Given the description of an element on the screen output the (x, y) to click on. 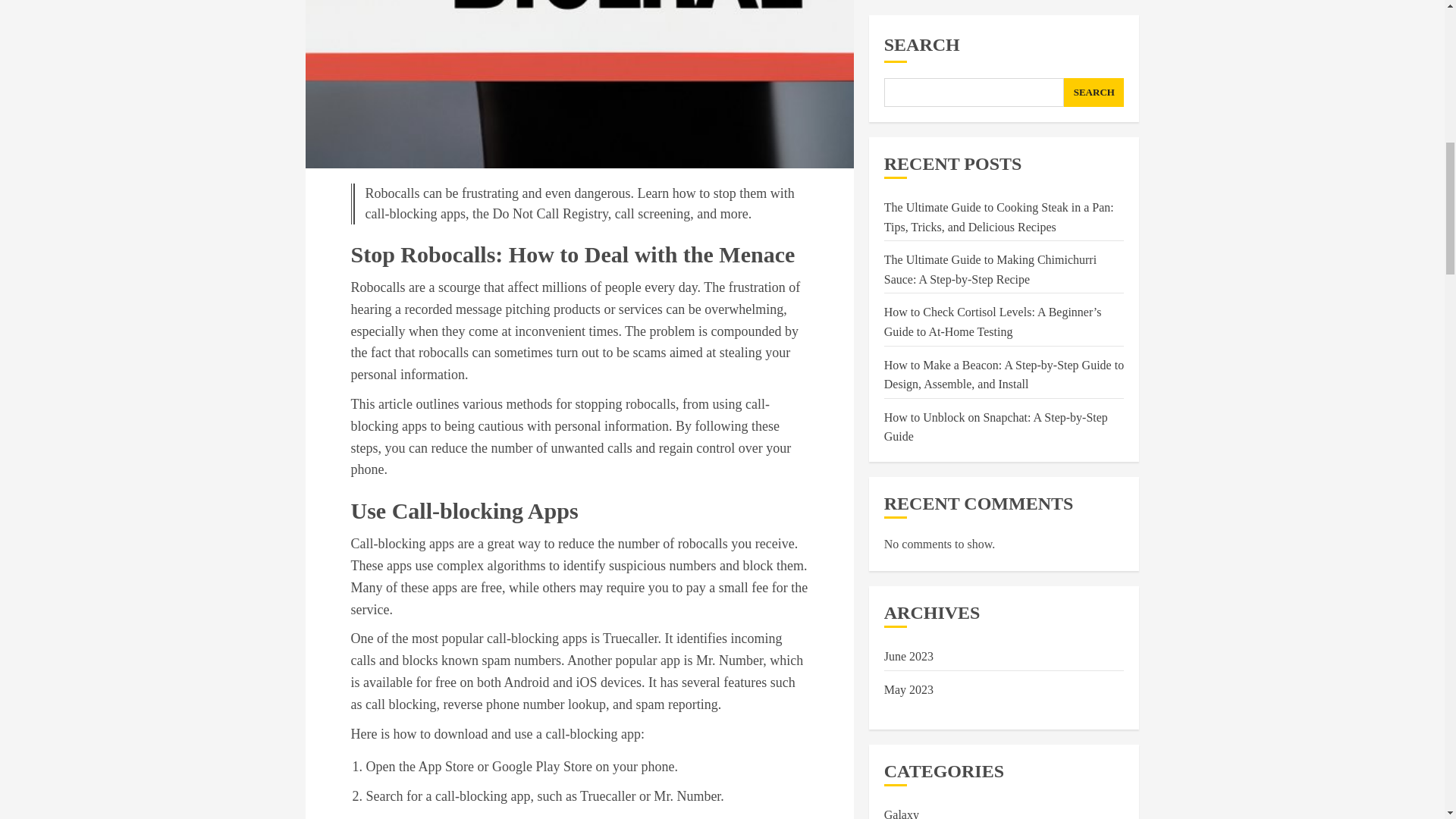
May 2023 (908, 138)
June 2023 (908, 105)
Galaxy (900, 264)
